Given the description of an element on the screen output the (x, y) to click on. 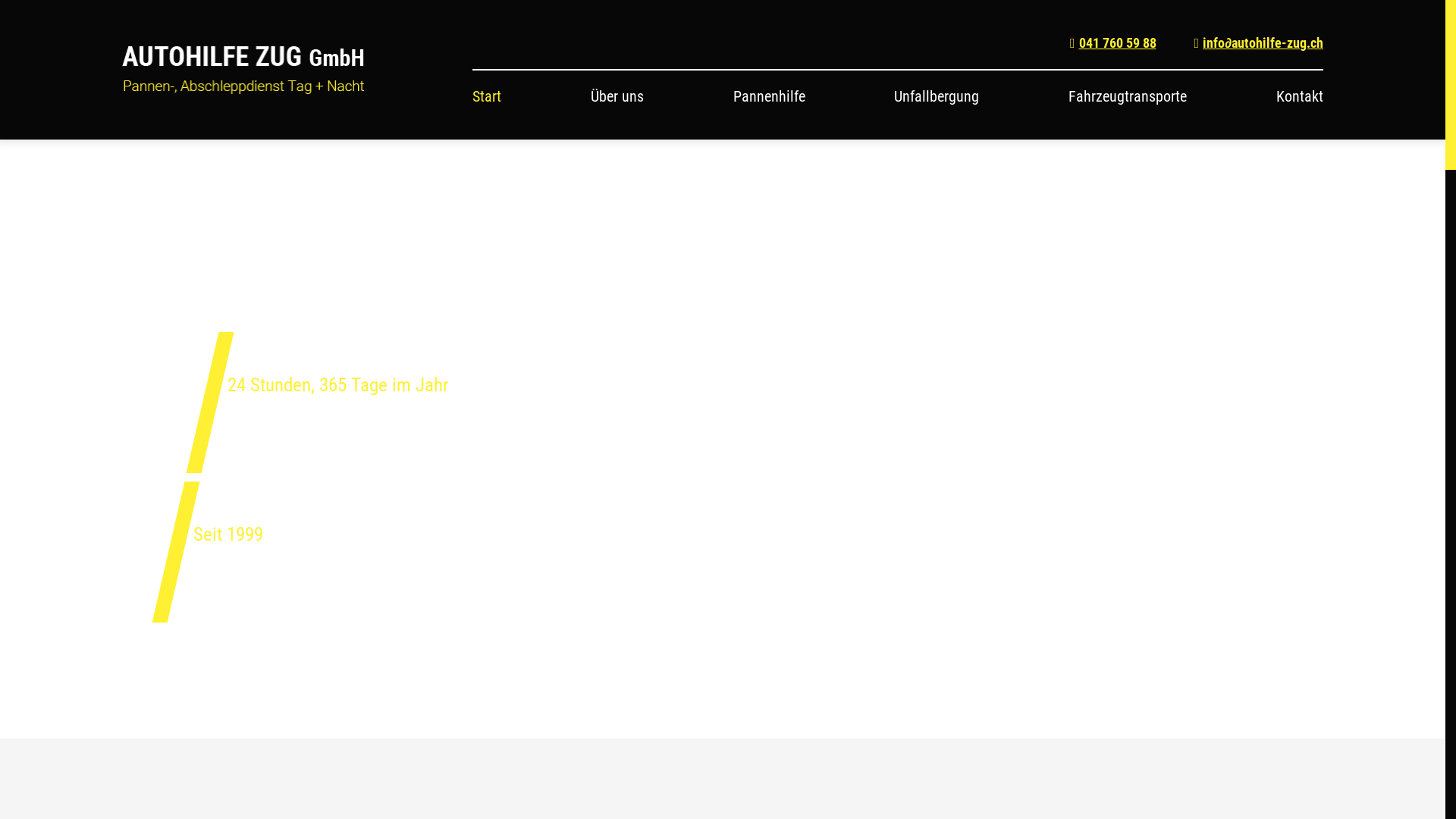
041 760 59 88 Element type: text (1113, 42)
Autohilfe Zug GmbH Element type: hover (243, 69)
Unfallbergung Element type: text (936, 95)
Sitemap anzeigen Element type: text (834, 467)
Kontakt Element type: text (1299, 95)
Start Element type: text (486, 95)
Fahrzeugtransporte Element type: text (1127, 95)
Pannenhilfe Element type: text (769, 95)
